Given the description of an element on the screen output the (x, y) to click on. 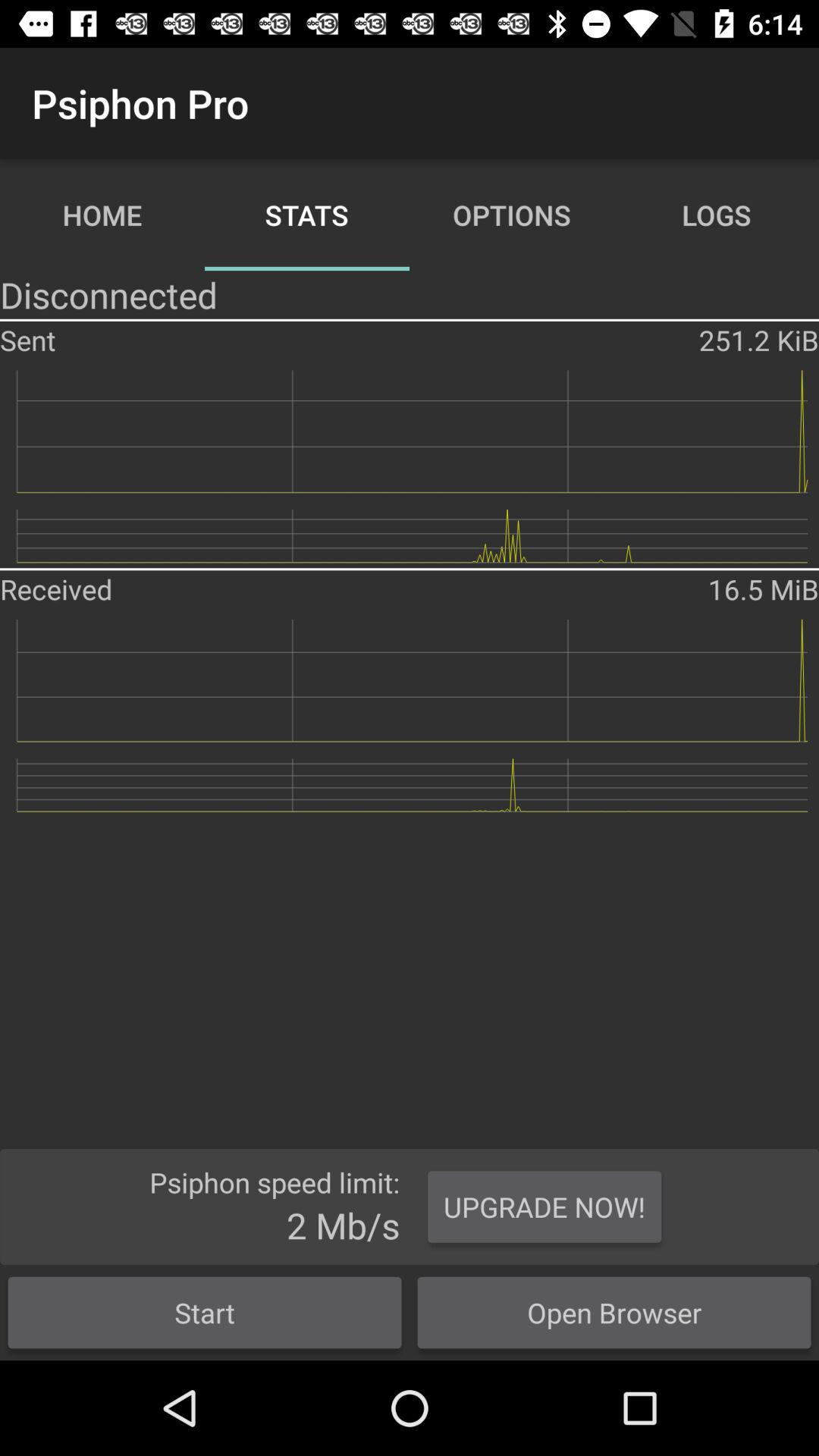
select the item next to the start item (614, 1312)
